Given the description of an element on the screen output the (x, y) to click on. 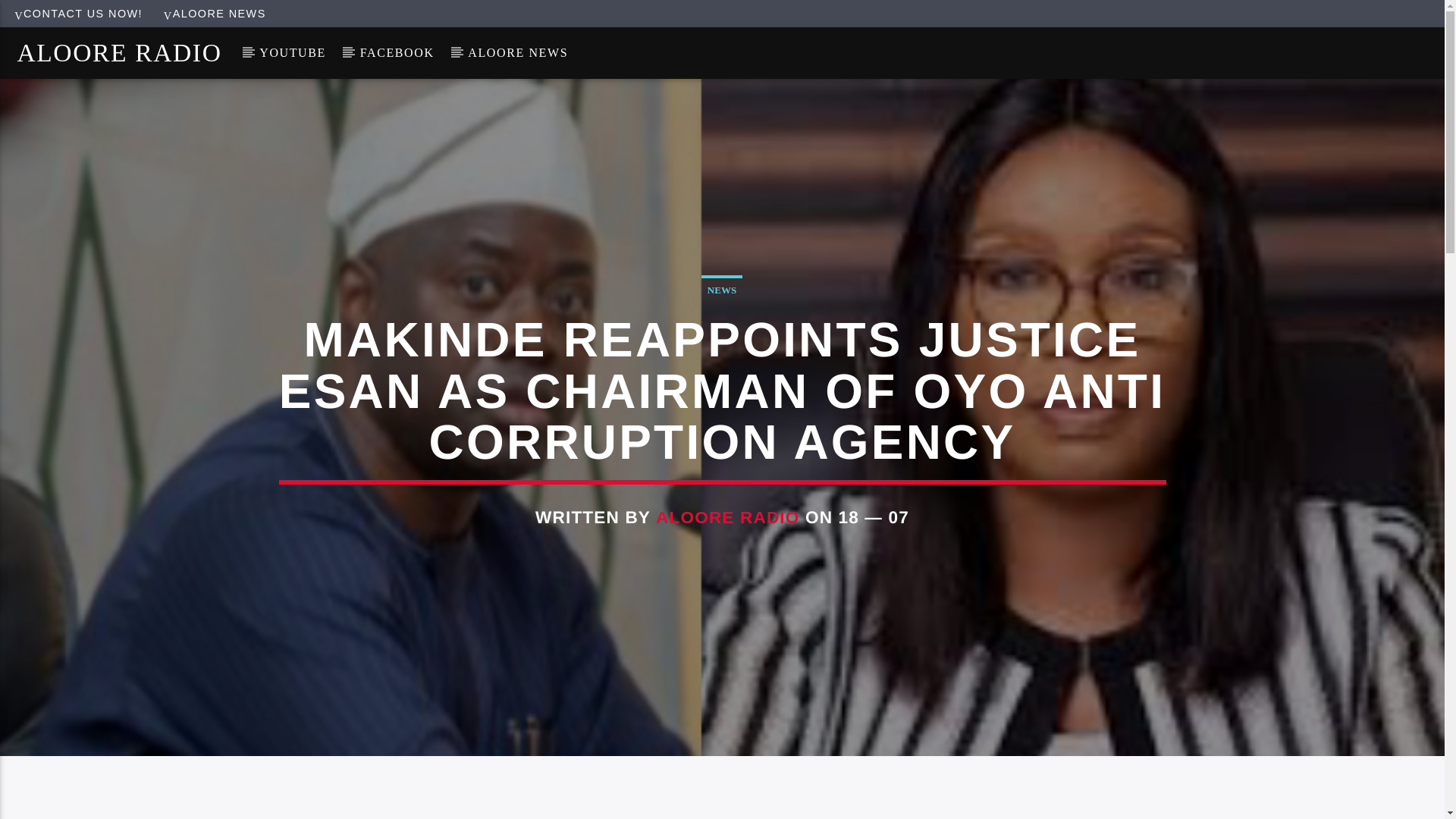
ALOORE RADIO (727, 517)
NEWS (721, 288)
FACEBOOK (396, 52)
YOUTUBE (292, 52)
ALOORE NEWS (214, 13)
Posts by Aloore Radio (727, 517)
CONTACT US NOW! (78, 13)
ALOORE RADIO (119, 52)
ALOORE NEWS (518, 52)
Search (1203, 102)
